Given the description of an element on the screen output the (x, y) to click on. 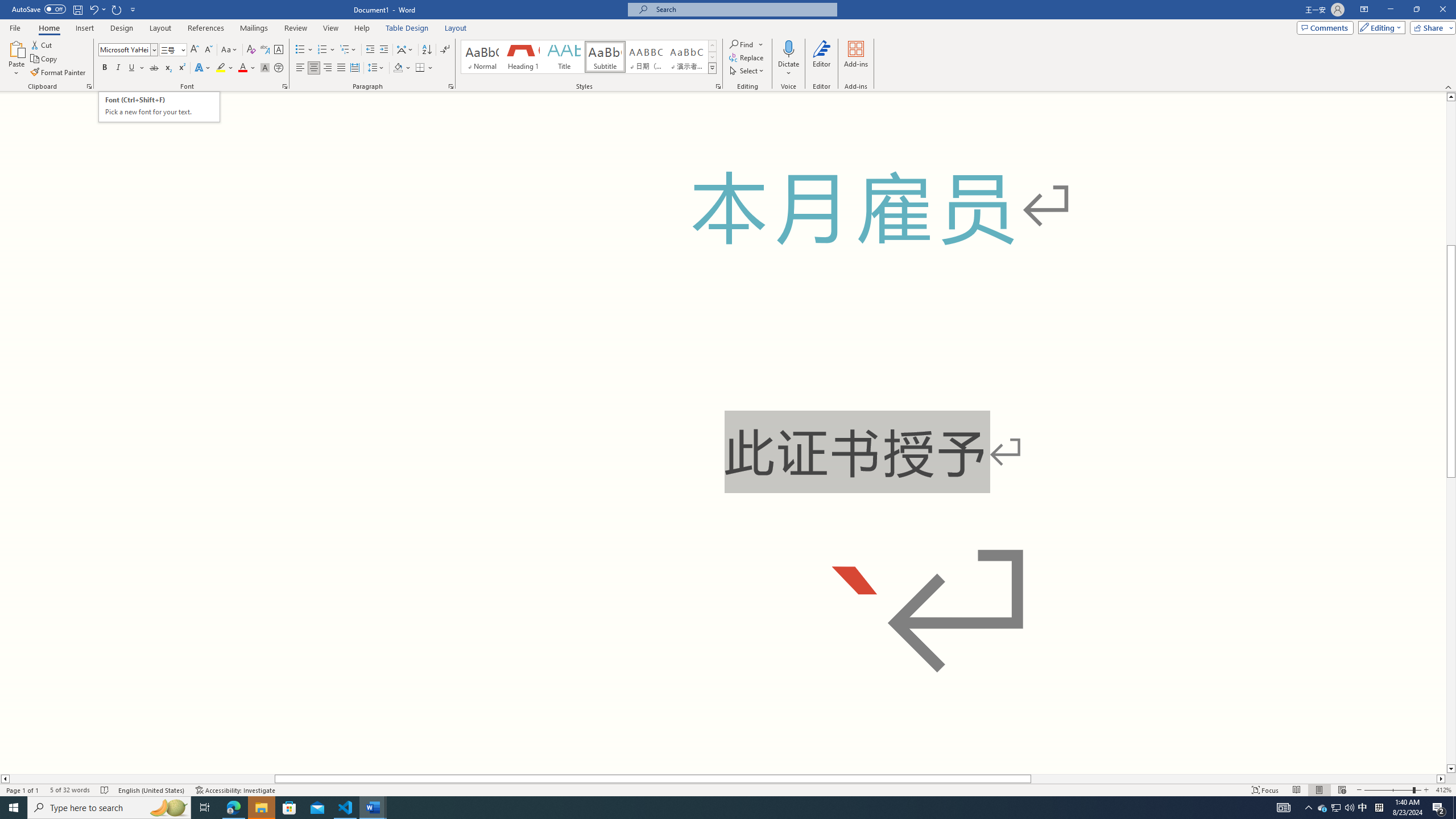
Replace... (747, 56)
